Given the description of an element on the screen output the (x, y) to click on. 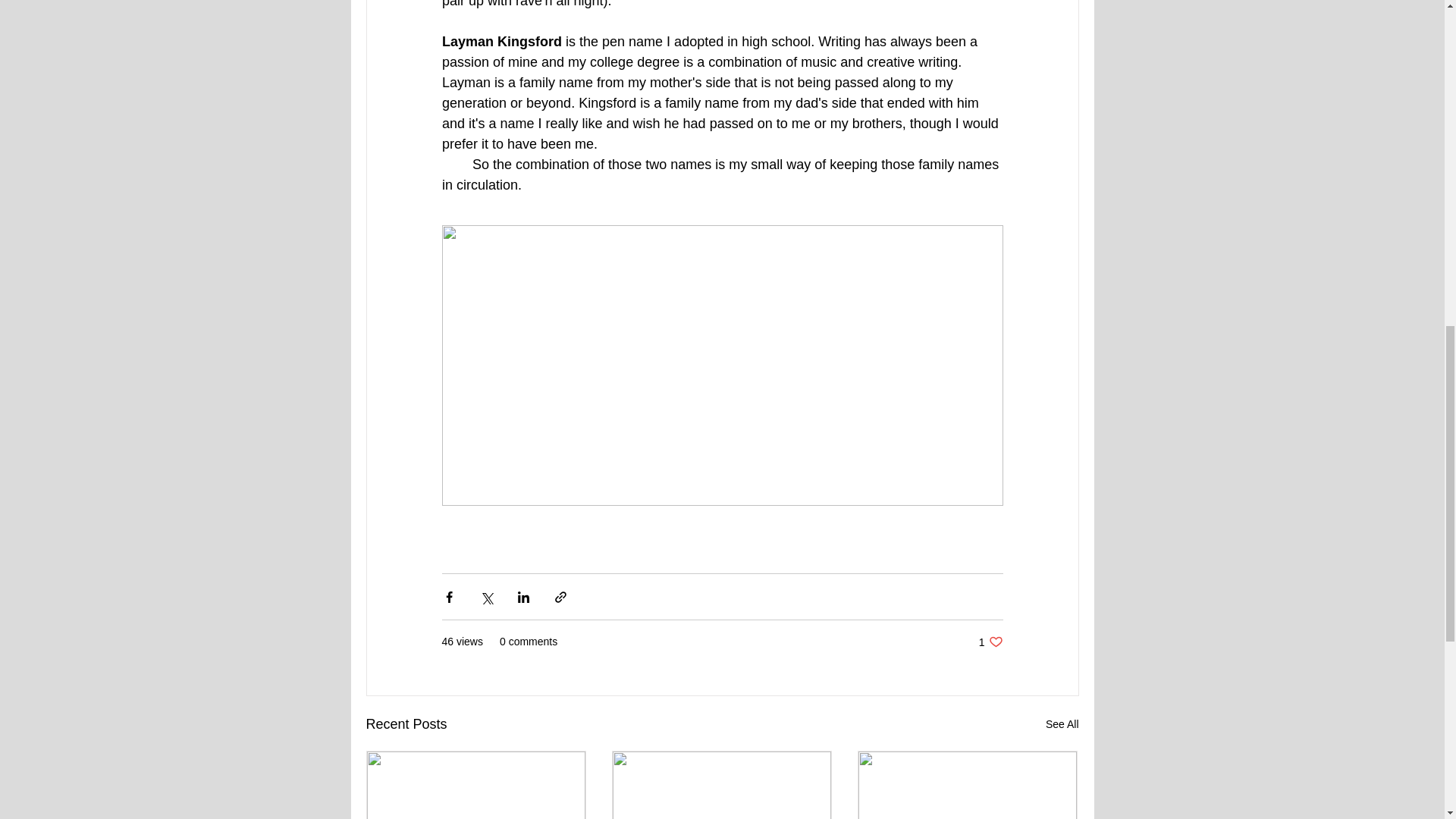
See All (1061, 724)
